Given the description of an element on the screen output the (x, y) to click on. 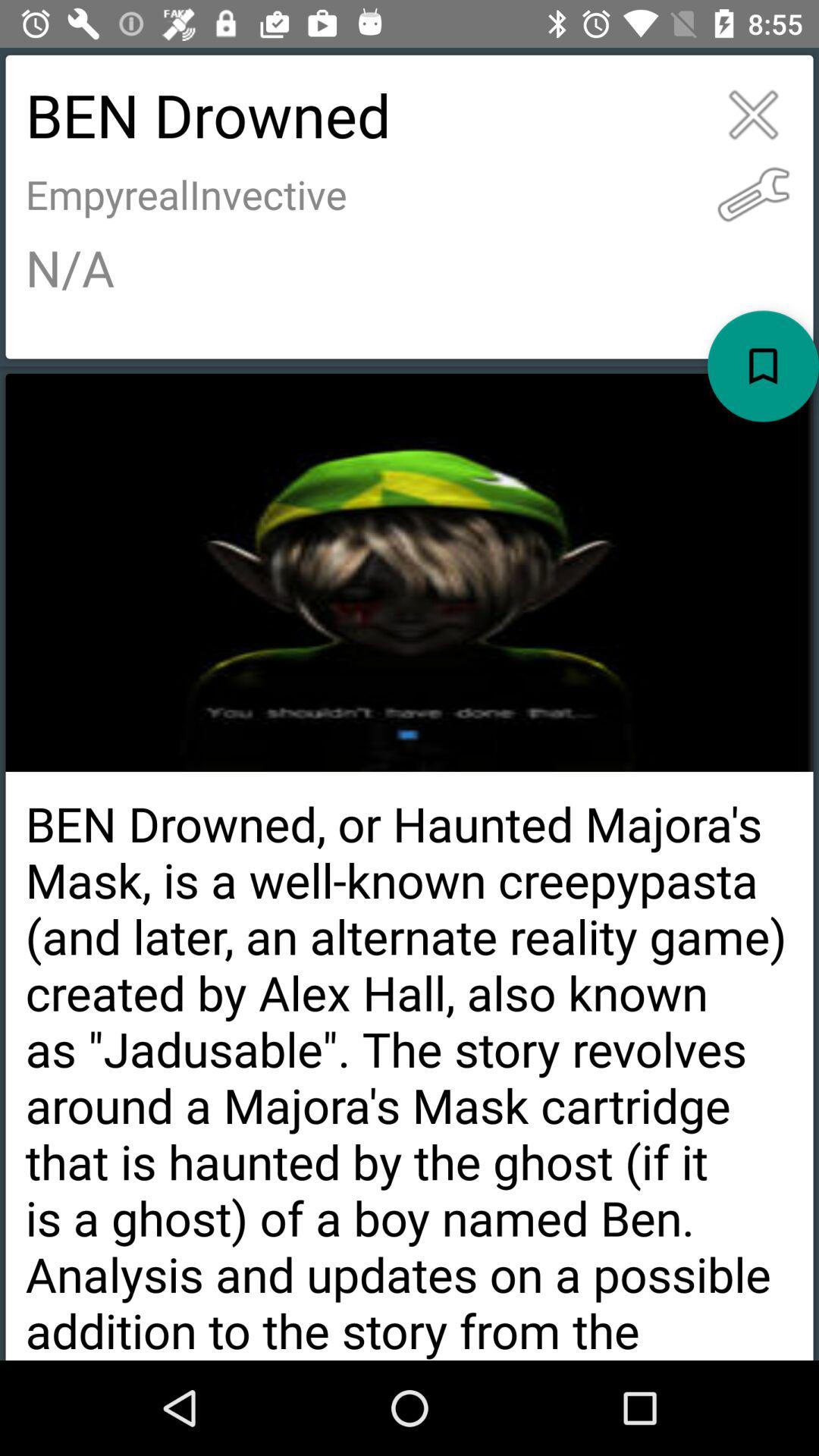
close the article (753, 114)
